Given the description of an element on the screen output the (x, y) to click on. 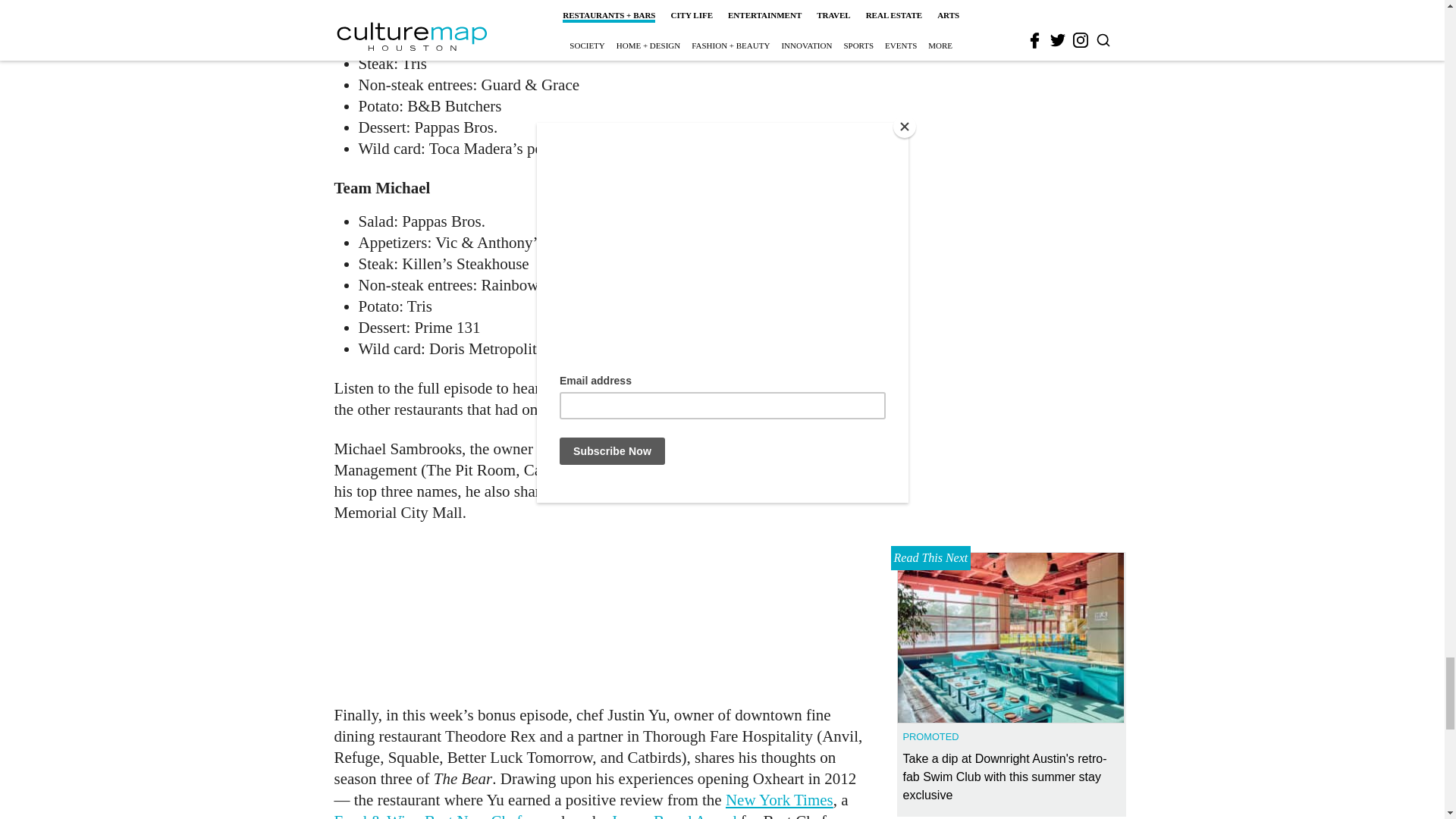
Audioboom player (599, 610)
